Given the description of an element on the screen output the (x, y) to click on. 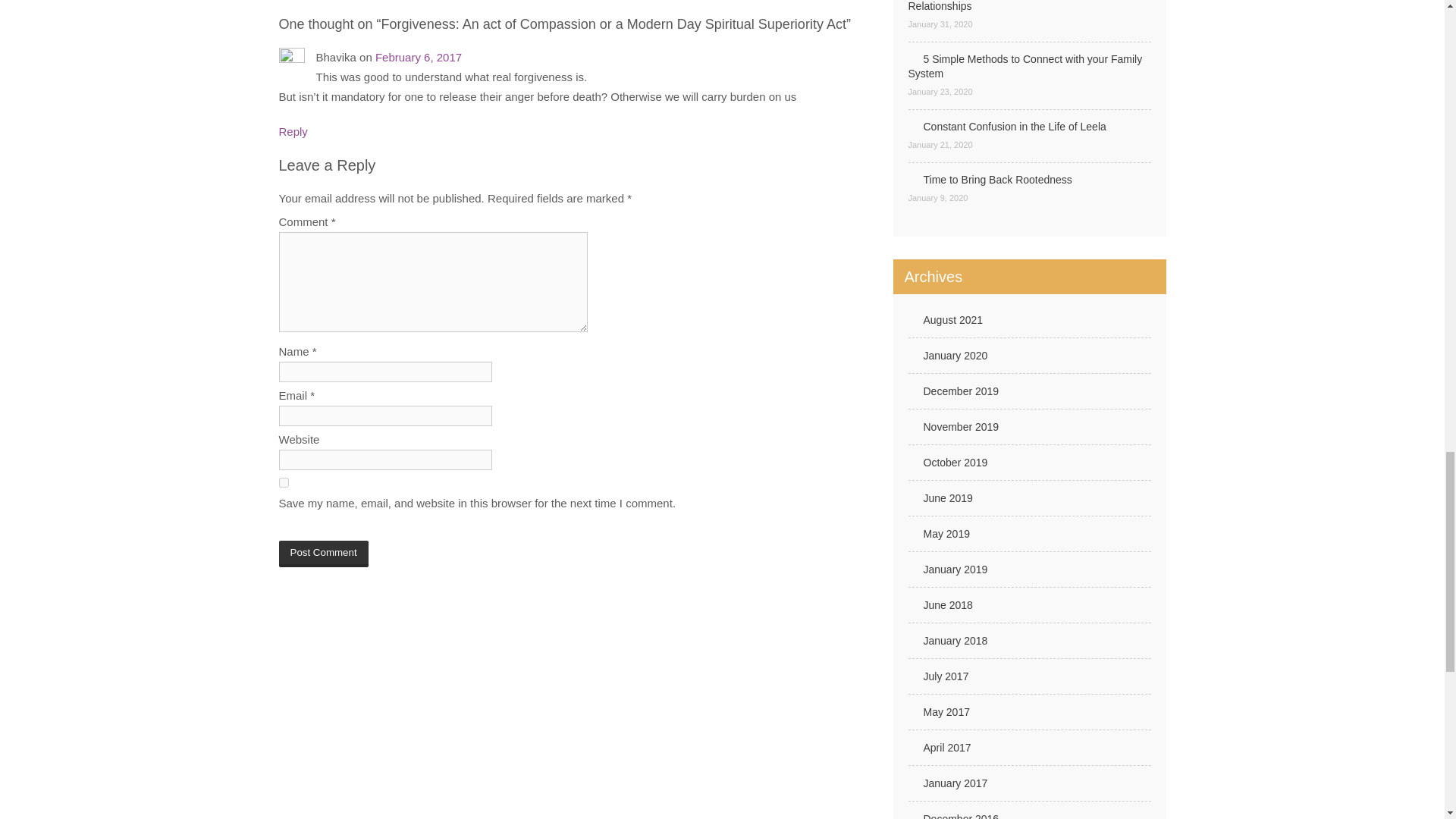
Post Comment (323, 553)
yes (283, 482)
Reply (293, 131)
February 6, 2017 (418, 56)
